Given the description of an element on the screen output the (x, y) to click on. 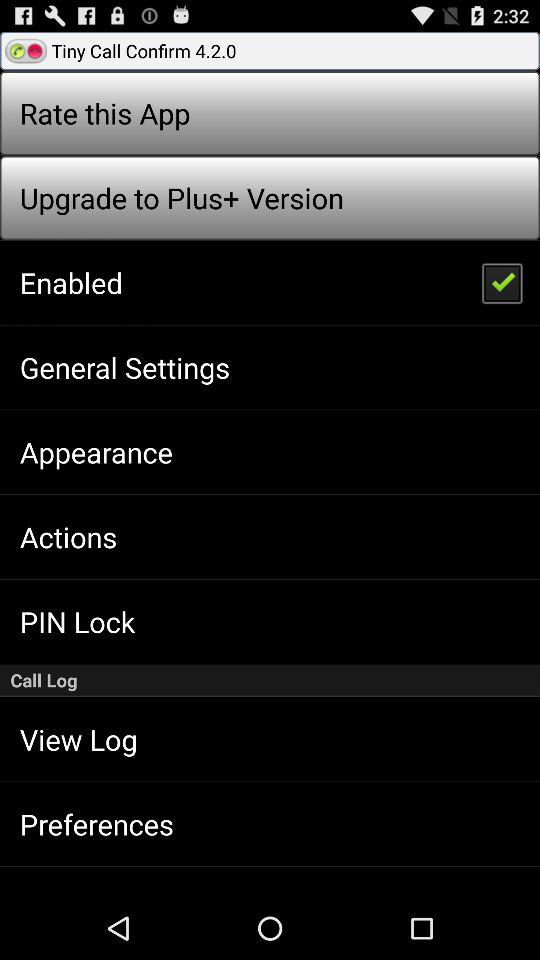
turn off the app above the enabled (181, 197)
